Given the description of an element on the screen output the (x, y) to click on. 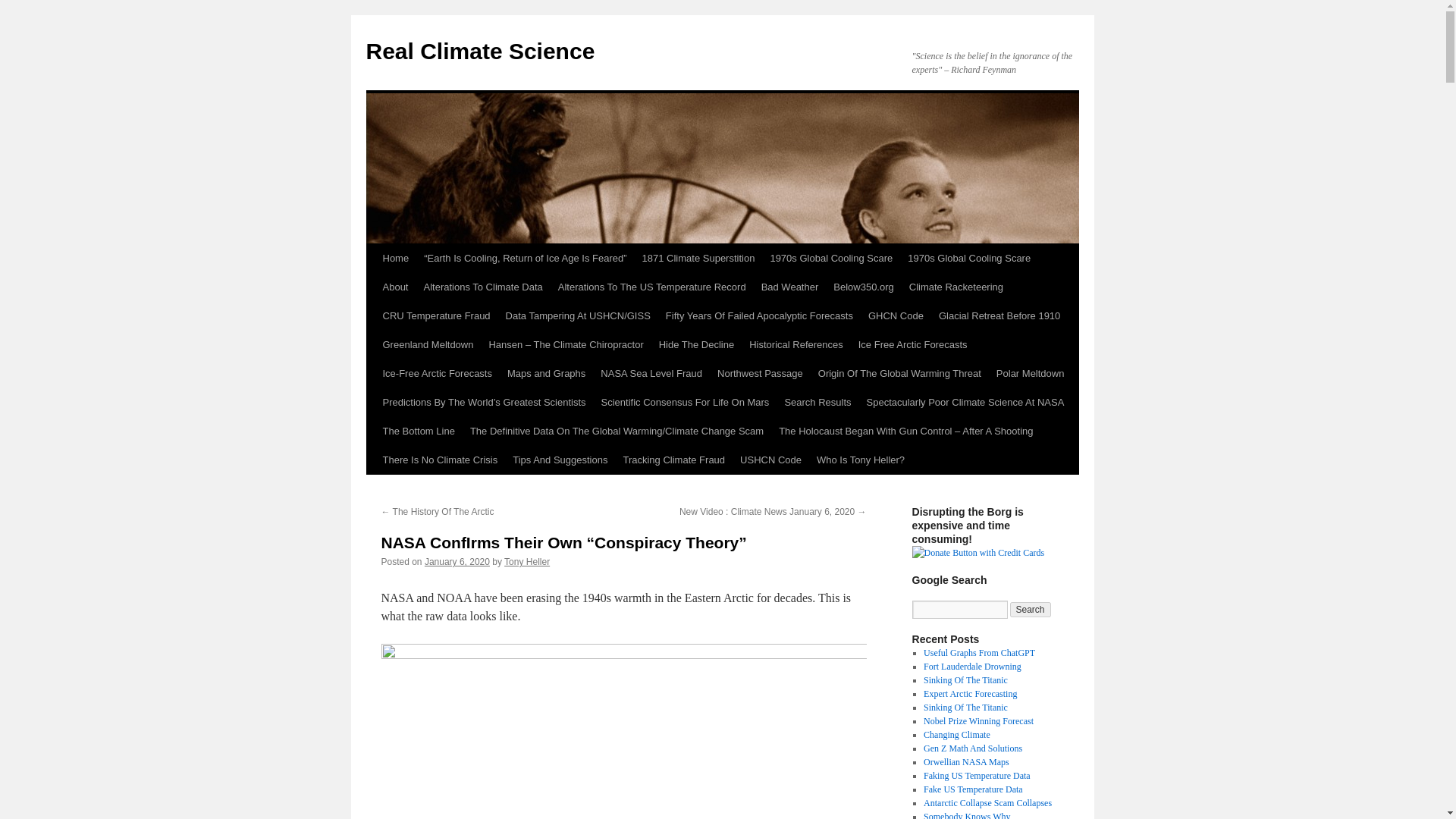
Fifty Years Of Failed Apocalyptic Forecasts (759, 316)
Scientific Consensus For Life On Mars (685, 402)
Hide The Decline (695, 344)
NASA Sea Level Fraud (651, 373)
Historical References (795, 344)
Alterations To Climate Data (482, 287)
Below350.org (863, 287)
The Bottom Line (417, 430)
GHCN Code (895, 316)
Ice-Free Arctic Forecasts (436, 373)
